Given the description of an element on the screen output the (x, y) to click on. 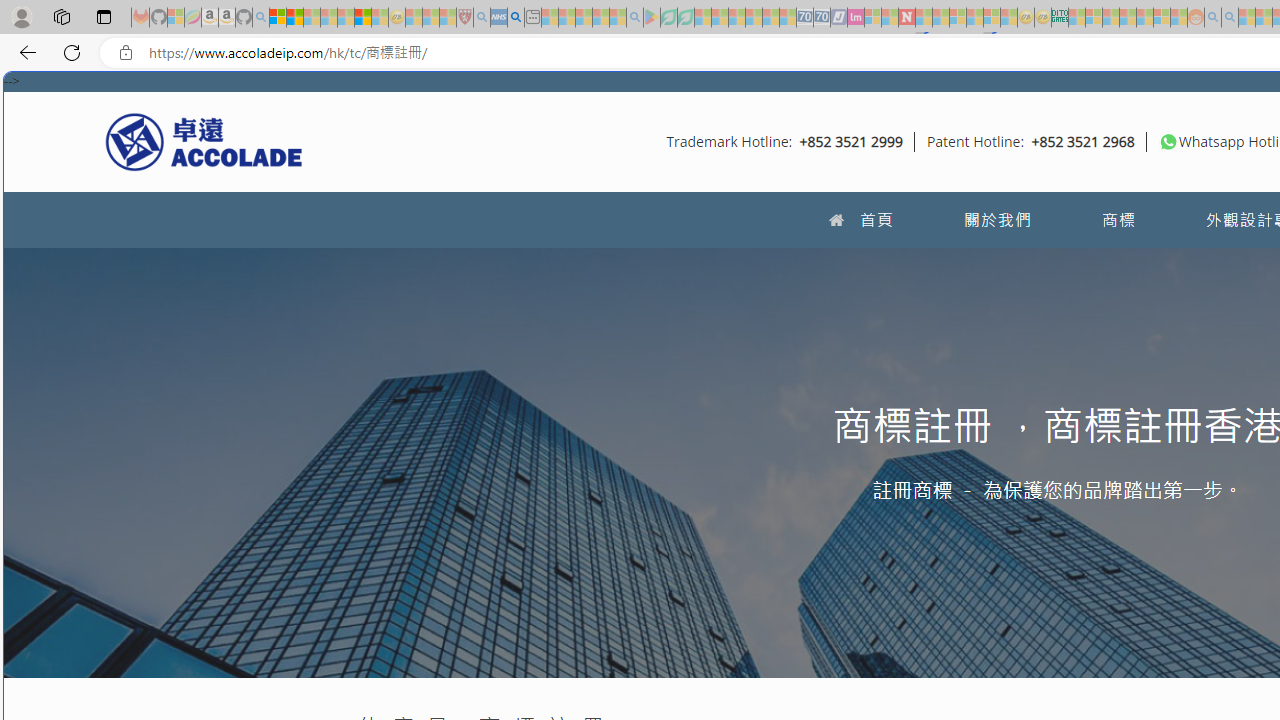
Jobs - lastminute.com Investor Portal - Sleeping (855, 17)
Local - MSN - Sleeping (447, 17)
google - Search - Sleeping (634, 17)
Bluey: Let's Play! - Apps on Google Play - Sleeping (651, 17)
Kinda Frugal - MSN - Sleeping (1144, 17)
Utah sues federal government - Search - Sleeping (1229, 17)
